Given the description of an element on the screen output the (x, y) to click on. 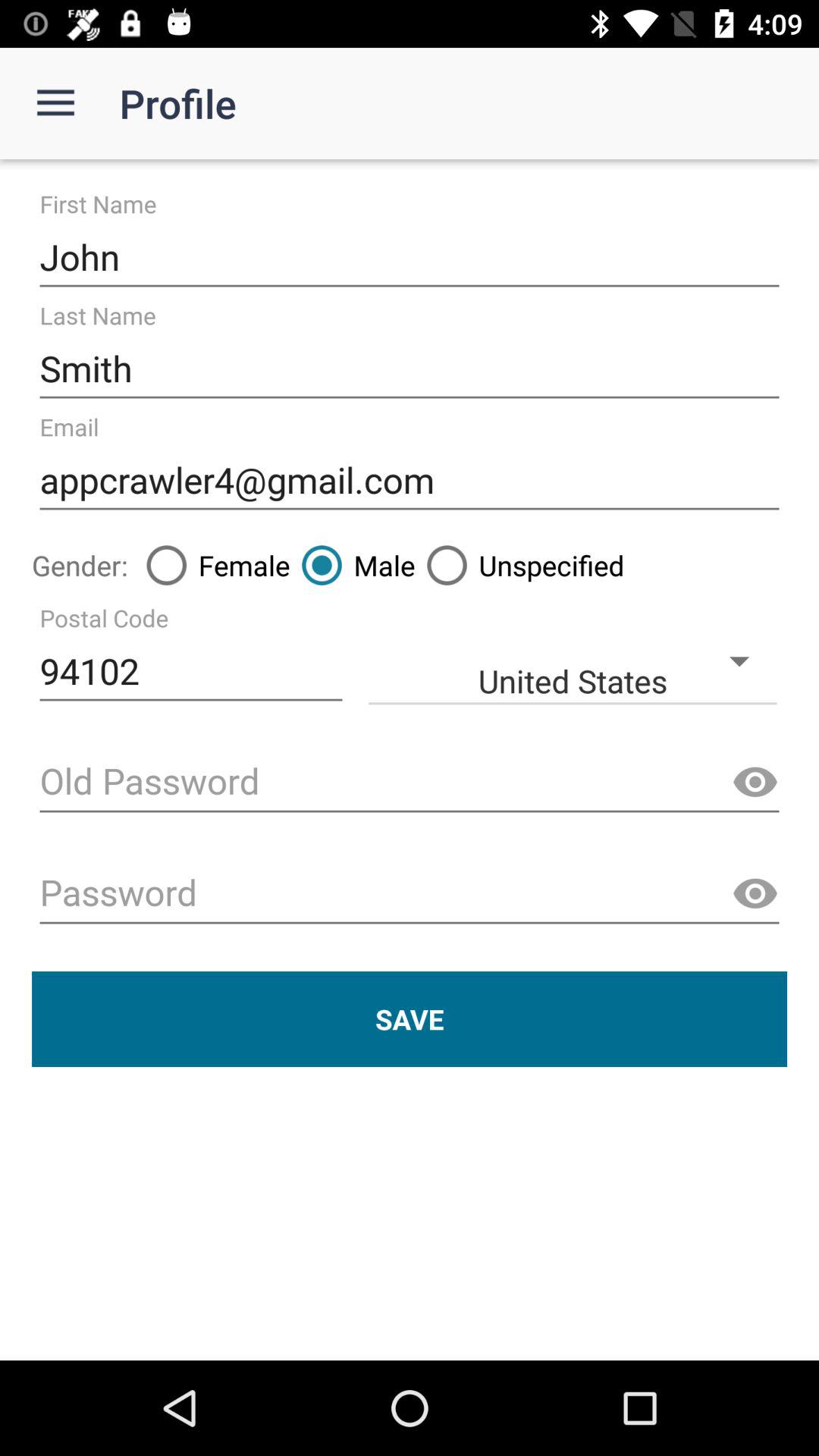
scroll until 94102 icon (190, 671)
